Given the description of an element on the screen output the (x, y) to click on. 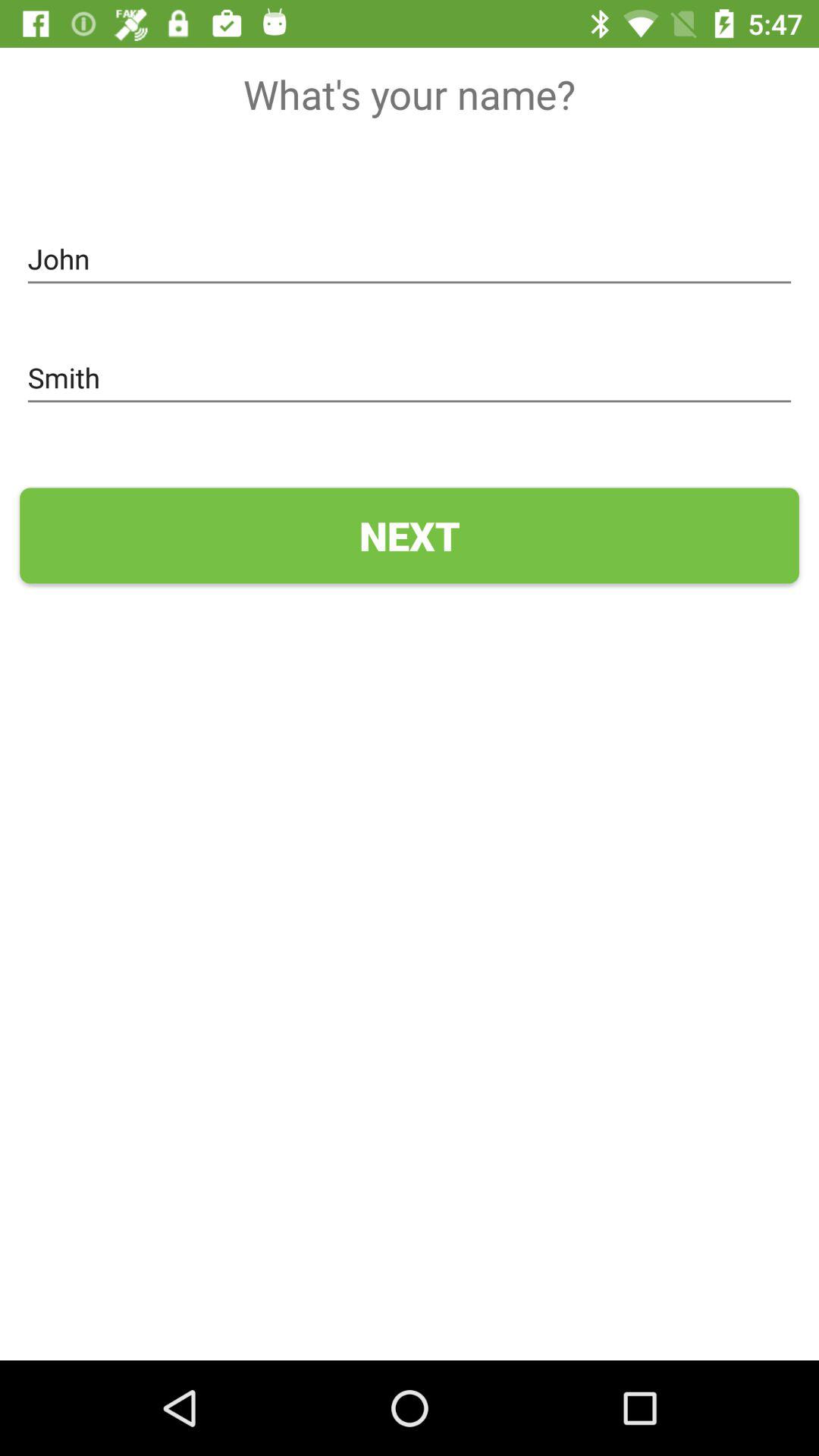
select the icon at the center (409, 535)
